Given the description of an element on the screen output the (x, y) to click on. 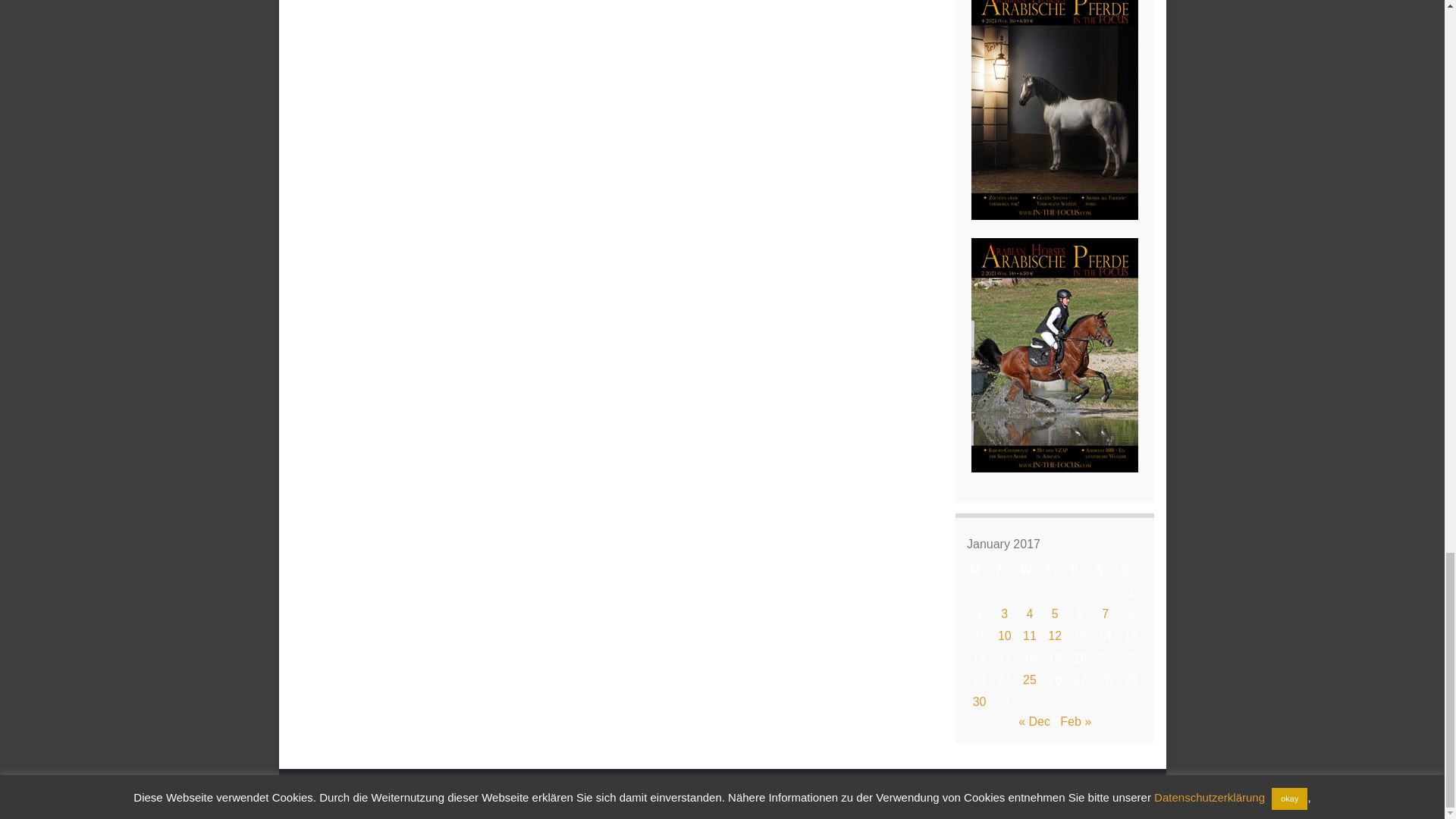
Sunday (1130, 570)
Thursday (1054, 570)
Tuesday (1003, 570)
Saturday (1105, 570)
Monday (978, 570)
Wednesday (1029, 570)
Friday (1080, 570)
